Given the description of an element on the screen output the (x, y) to click on. 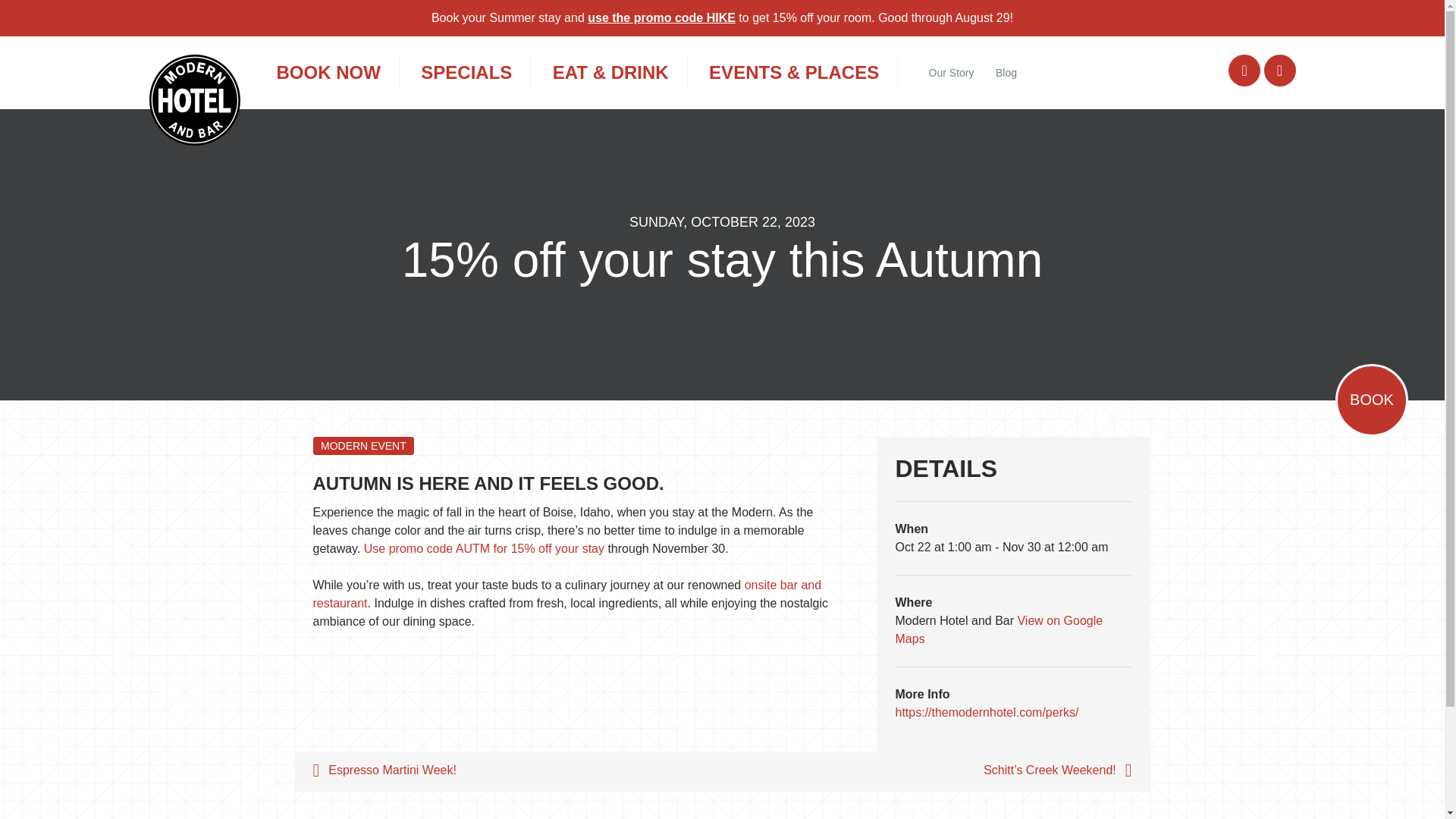
Home (194, 99)
use the promo code HIKE (661, 17)
SPECIALS (466, 72)
onsite bar and restaurant (567, 593)
BOOK (1371, 399)
Our Story (952, 73)
Blog (1006, 73)
BOOK NOW (327, 72)
Espresso Martini Week! (508, 771)
View on Google Maps (998, 629)
